Given the description of an element on the screen output the (x, y) to click on. 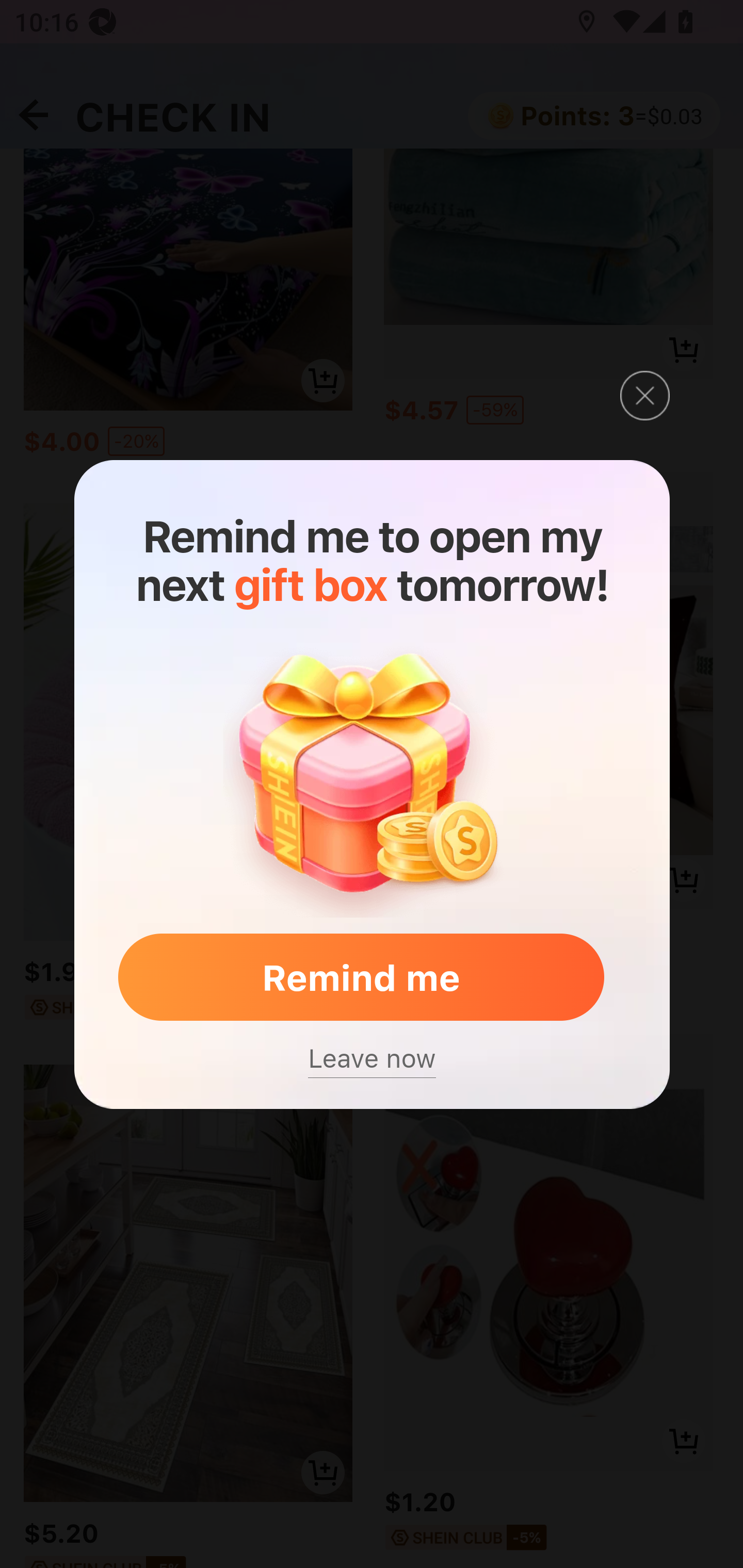
Remind me (360, 977)
Leave now (371, 1058)
